Given the description of an element on the screen output the (x, y) to click on. 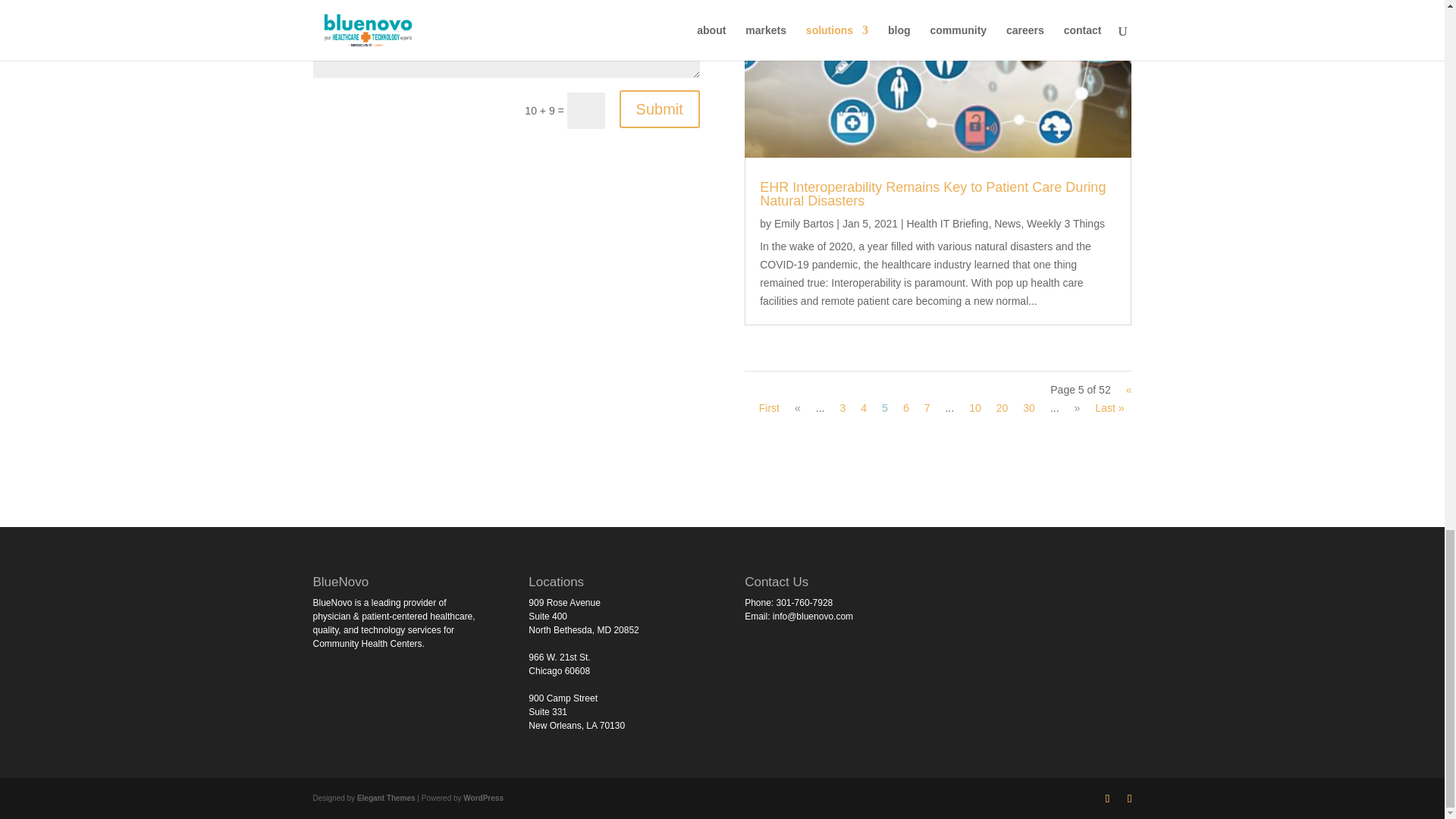
News (1007, 223)
Emily Bartos (804, 223)
Page 20 (1001, 407)
Page 10 (975, 407)
Weekly 3 Things (1065, 223)
Health IT Briefing (946, 223)
Posts by Emily Bartos (804, 223)
Submit (660, 108)
Page 30 (1029, 407)
